Given the description of an element on the screen output the (x, y) to click on. 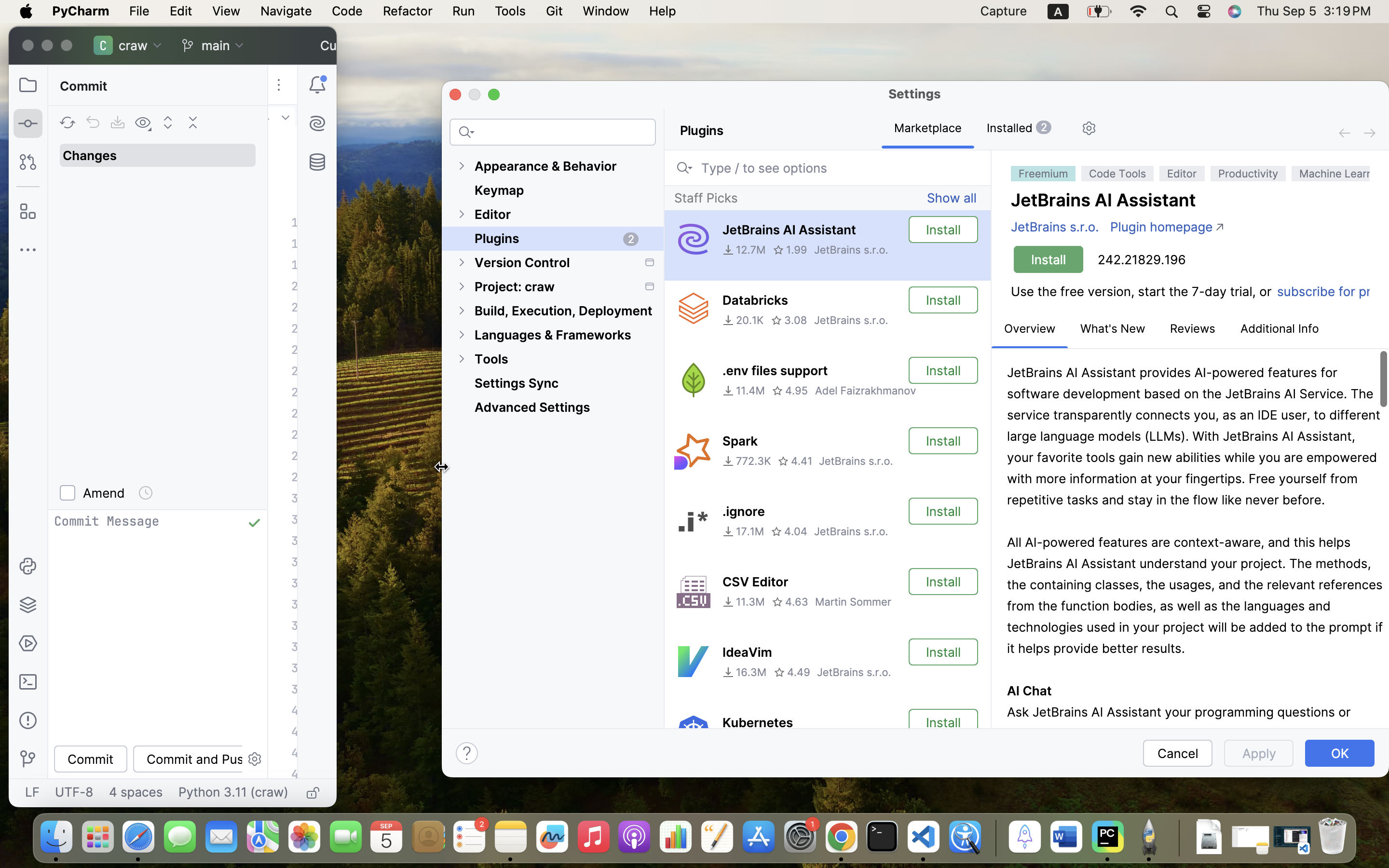
0.4285714328289032 Element type: AXDockItem (993, 837)
JetBrains s.r.o. Element type: AXStaticText (855, 460)
3.81 Element type: AXStaticText (784, 742)
4.49 Element type: AXStaticText (791, 671)
